Given the description of an element on the screen output the (x, y) to click on. 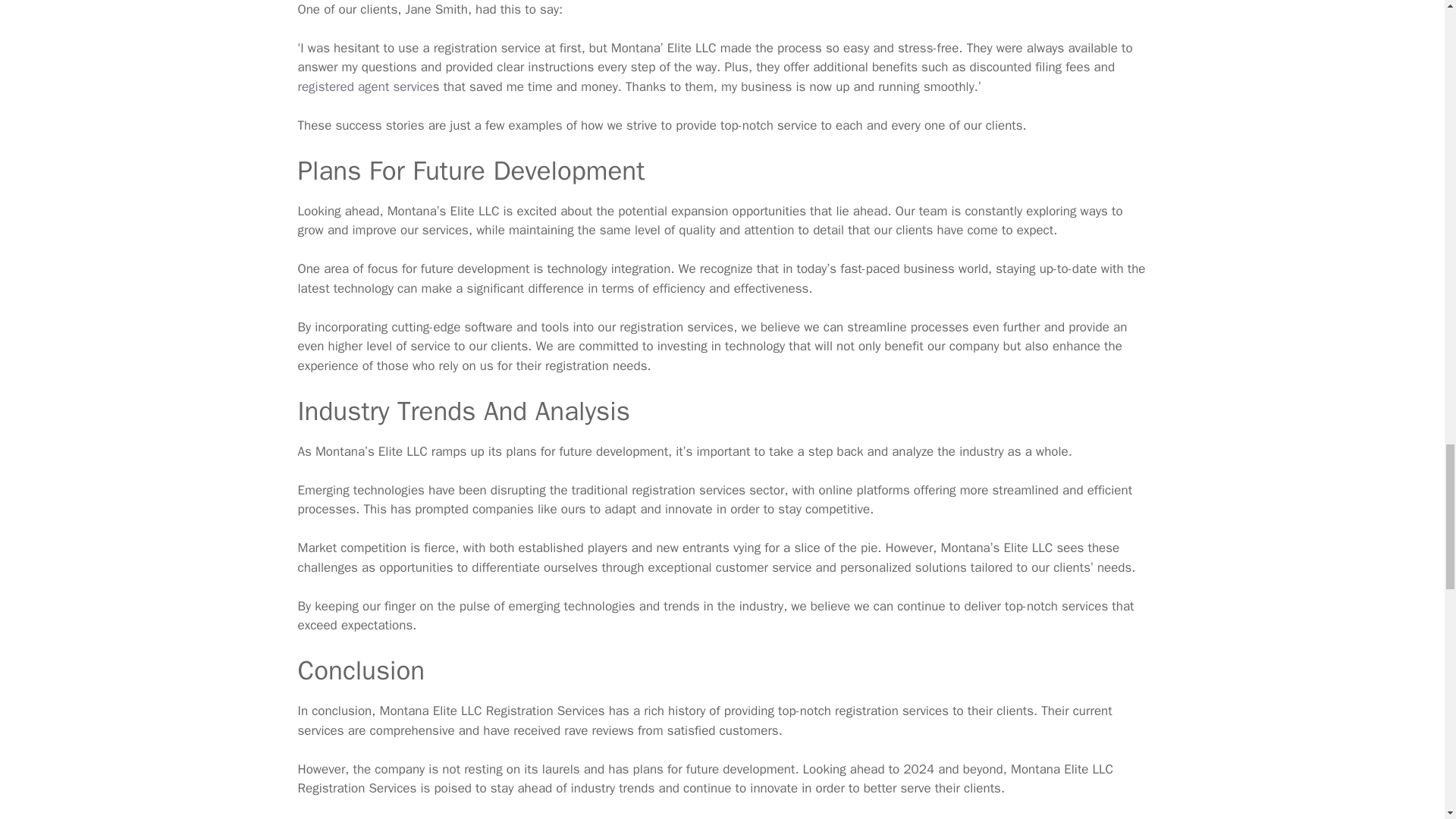
registered agent service (364, 86)
